Given the description of an element on the screen output the (x, y) to click on. 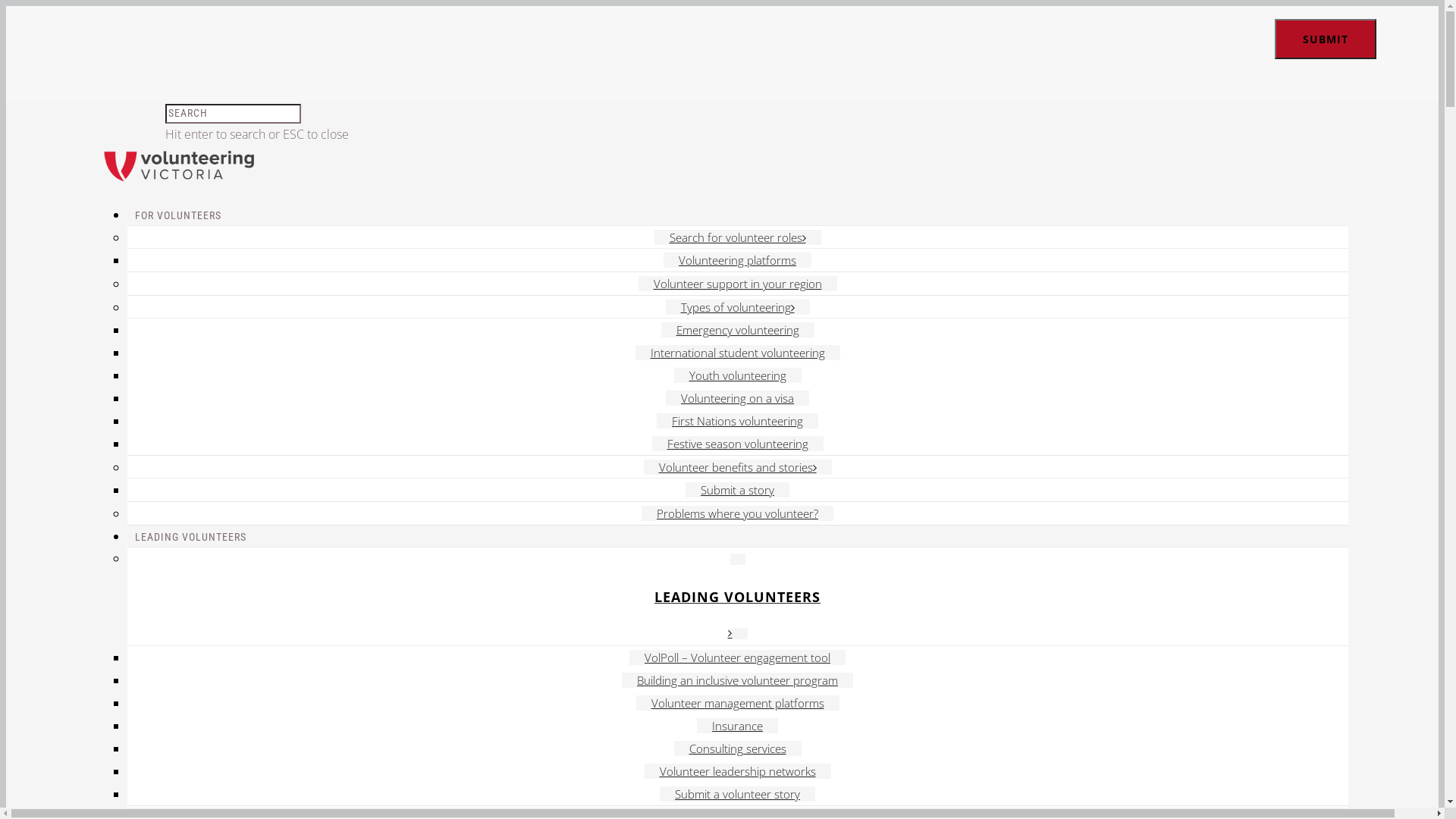
Submit a volunteer story Element type: text (737, 793)
SUBMIT Element type: text (1325, 38)
Submit a story Element type: text (737, 489)
Insurance Element type: text (737, 725)
Search for volunteer roles Element type: text (736, 236)
Consulting services Element type: text (736, 748)
Volunteer leadership networks Element type: text (737, 770)
Building an inclusive volunteer program Element type: text (737, 679)
Emergency volunteering Element type: text (737, 329)
LEADING VOLUNTEERS Element type: text (737, 596)
LEADING VOLUNTEERS Element type: text (190, 536)
Festive season volunteering Element type: text (737, 443)
Types of volunteering Element type: text (737, 306)
Volunteer management platforms Element type: text (736, 702)
International student volunteering Element type: text (737, 352)
FOR VOLUNTEERS Element type: text (178, 215)
Volunteer support in your region Element type: text (737, 283)
Youth volunteering Element type: text (736, 374)
Volunteer benefits and stories Element type: text (737, 466)
Volunteering on a visa Element type: text (737, 397)
First Nations volunteering Element type: text (737, 420)
Problems where you volunteer? Element type: text (737, 512)
Volunteering platforms Element type: text (737, 259)
